Given the description of an element on the screen output the (x, y) to click on. 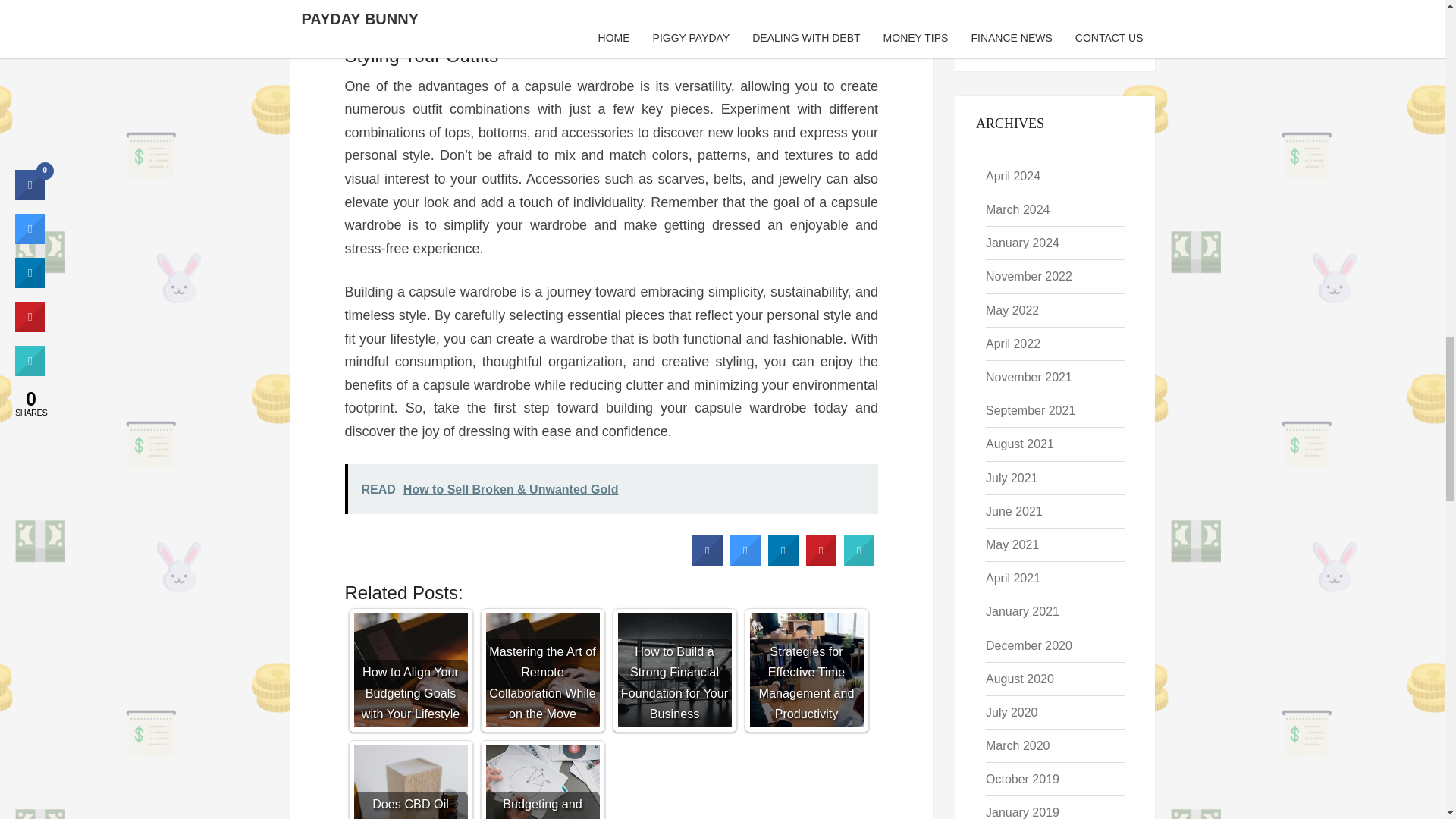
Mastering the Art of Remote Collaboration While on the Move (541, 670)
How to Align Your Budgeting Goals with Your Lifestyle (410, 670)
Does CBD Oil Expire: What You Need To Know? (410, 782)
Does CBD Oil Expire: What You Need To Know? (410, 782)
How to Align Your Budgeting Goals with Your Lifestyle (410, 670)
April 2024 (1013, 175)
Share to LinkedIn (782, 561)
Mastering the Art of Remote Collaboration While on the Move (541, 670)
Budgeting and Money Management (541, 782)
How to Build a Strong Financial Foundation for Your Business (673, 670)
How to Build a Strong Financial Foundation for Your Business (673, 670)
Strategies for Effective Time Management and Productivity (806, 670)
Strategies for Effective Time Management and Productivity (806, 670)
Budgeting and Money Management (541, 782)
Share on Pinterest (820, 561)
